Given the description of an element on the screen output the (x, y) to click on. 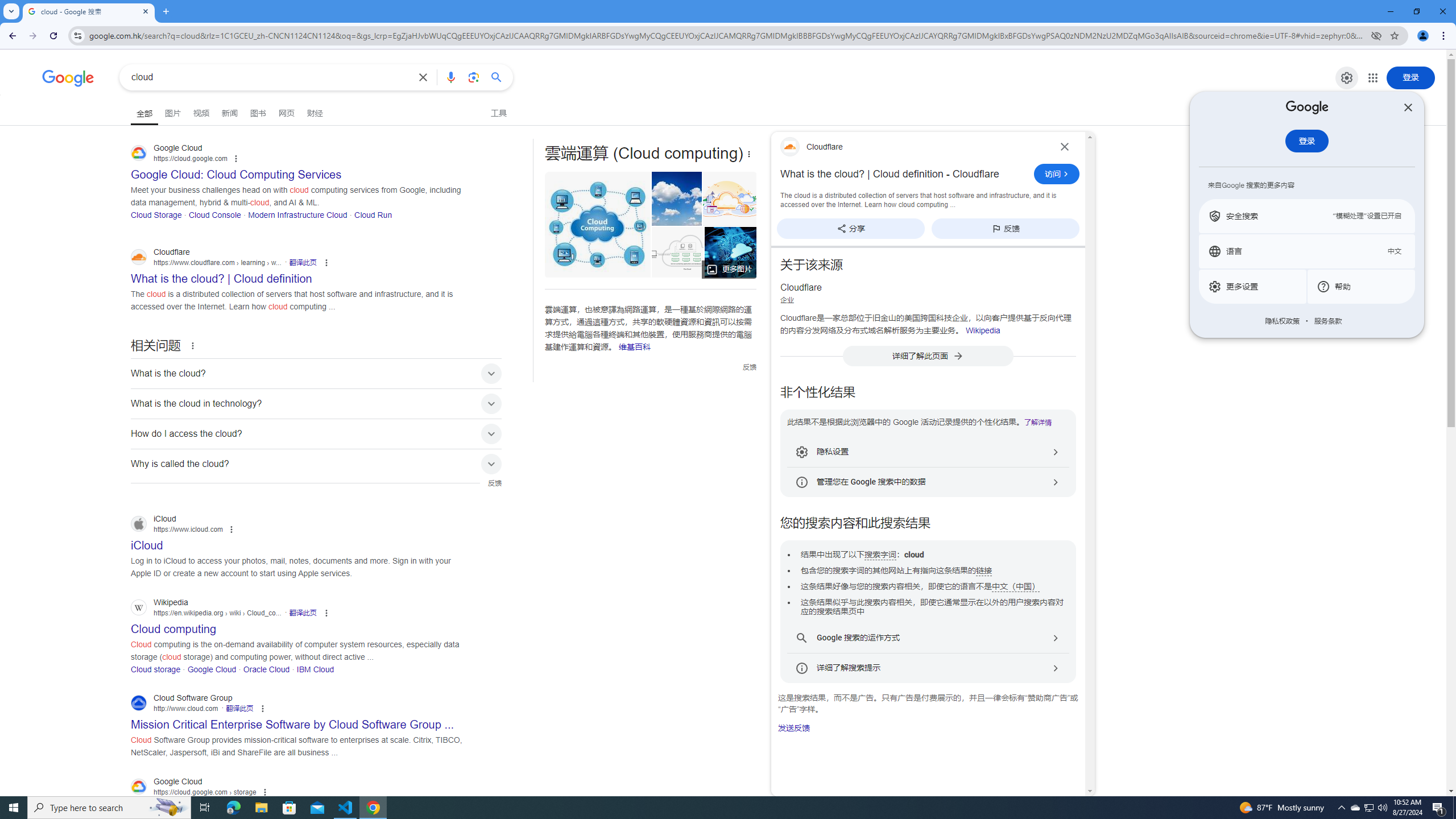
IBM Cloud (315, 669)
How do I access the cloud? (316, 433)
Cloud storage (155, 669)
What is the cloud? | Cloud definition - Cloudflare (903, 173)
